Given the description of an element on the screen output the (x, y) to click on. 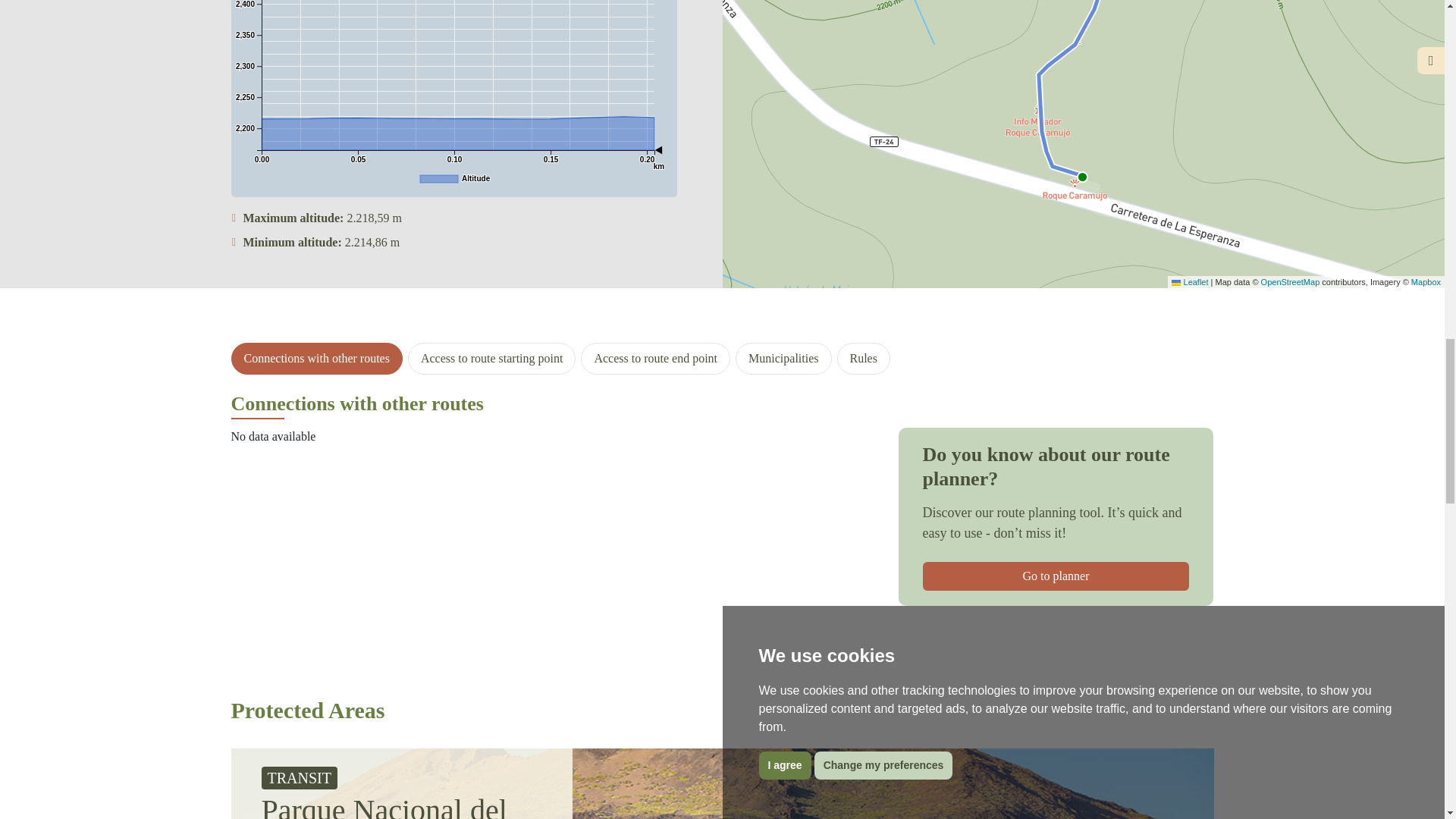
A JavaScript library for interactive maps (1190, 281)
